Given the description of an element on the screen output the (x, y) to click on. 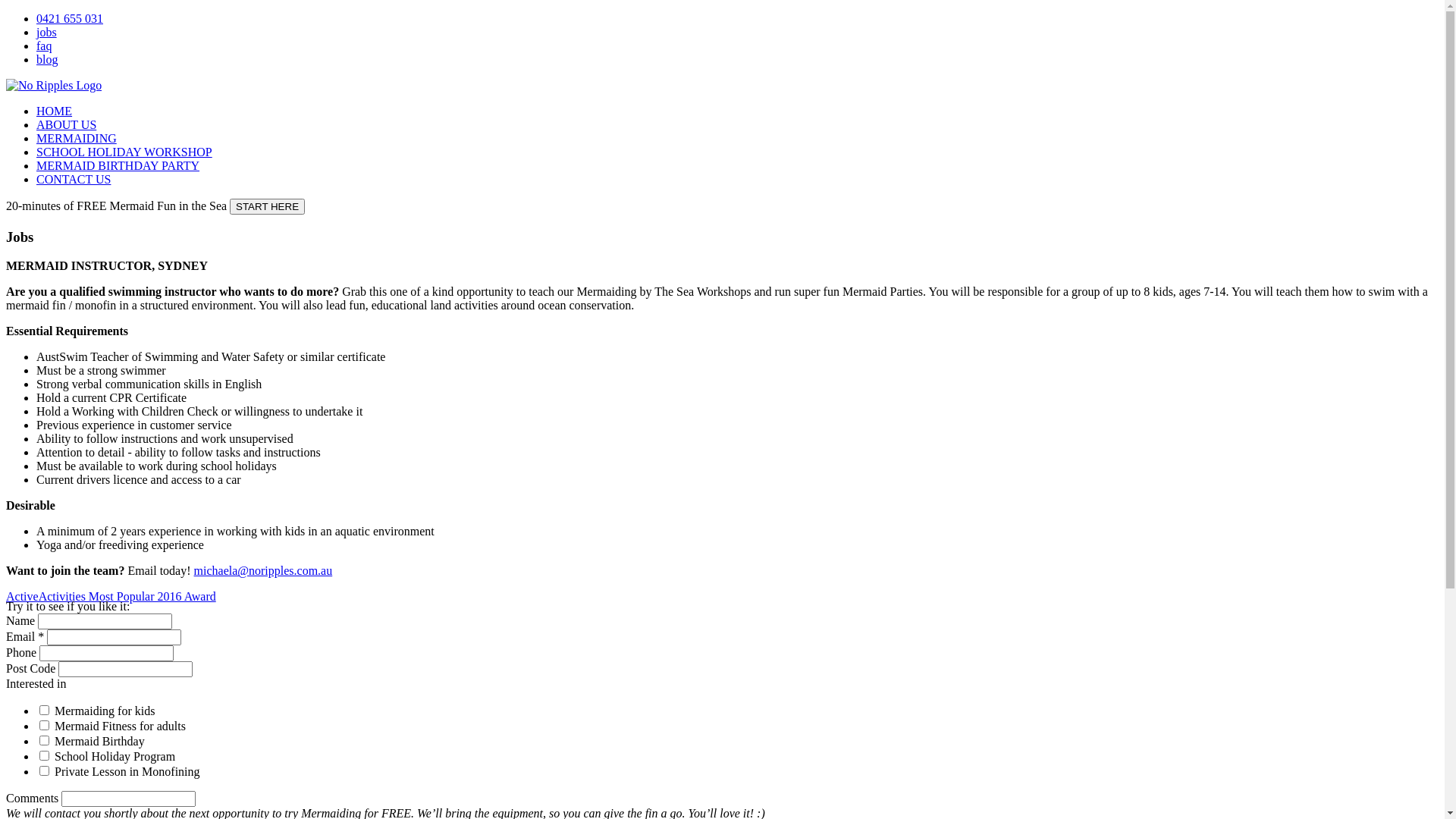
0421 655 031 Element type: text (69, 18)
SCHOOL HOLIDAY WORKSHOP Element type: text (124, 151)
faq Element type: text (43, 45)
CONTACT US Element type: text (73, 178)
MERMAIDING Element type: text (76, 137)
jobs Element type: text (46, 31)
HOME Element type: text (54, 110)
MERMAID BIRTHDAY PARTY Element type: text (117, 165)
ABOUT US Element type: text (66, 124)
blog Element type: text (46, 59)
START HERE Element type: text (266, 206)
michaela@noripples.com.au Element type: text (263, 570)
ActiveActivities Most Popular 2016 Award Element type: text (111, 595)
